Given the description of an element on the screen output the (x, y) to click on. 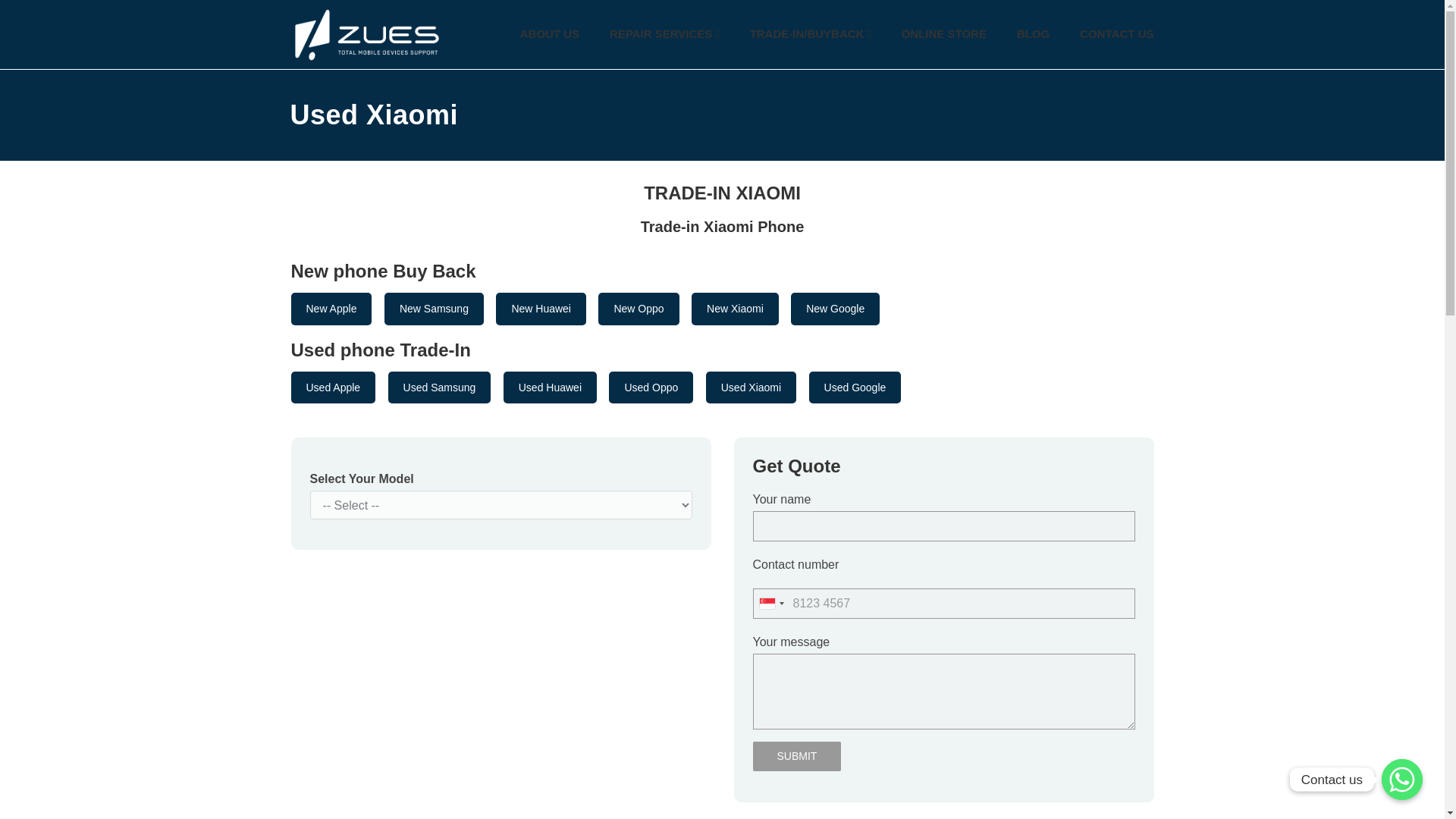
Used Samsung (440, 387)
ABOUT US (549, 34)
Submit (796, 757)
Used Google (855, 387)
New Samsung (433, 308)
New Apple (331, 308)
New Xiaomi (734, 308)
CONTACT US (1116, 34)
Submit (796, 757)
New Huawei (541, 308)
